Given the description of an element on the screen output the (x, y) to click on. 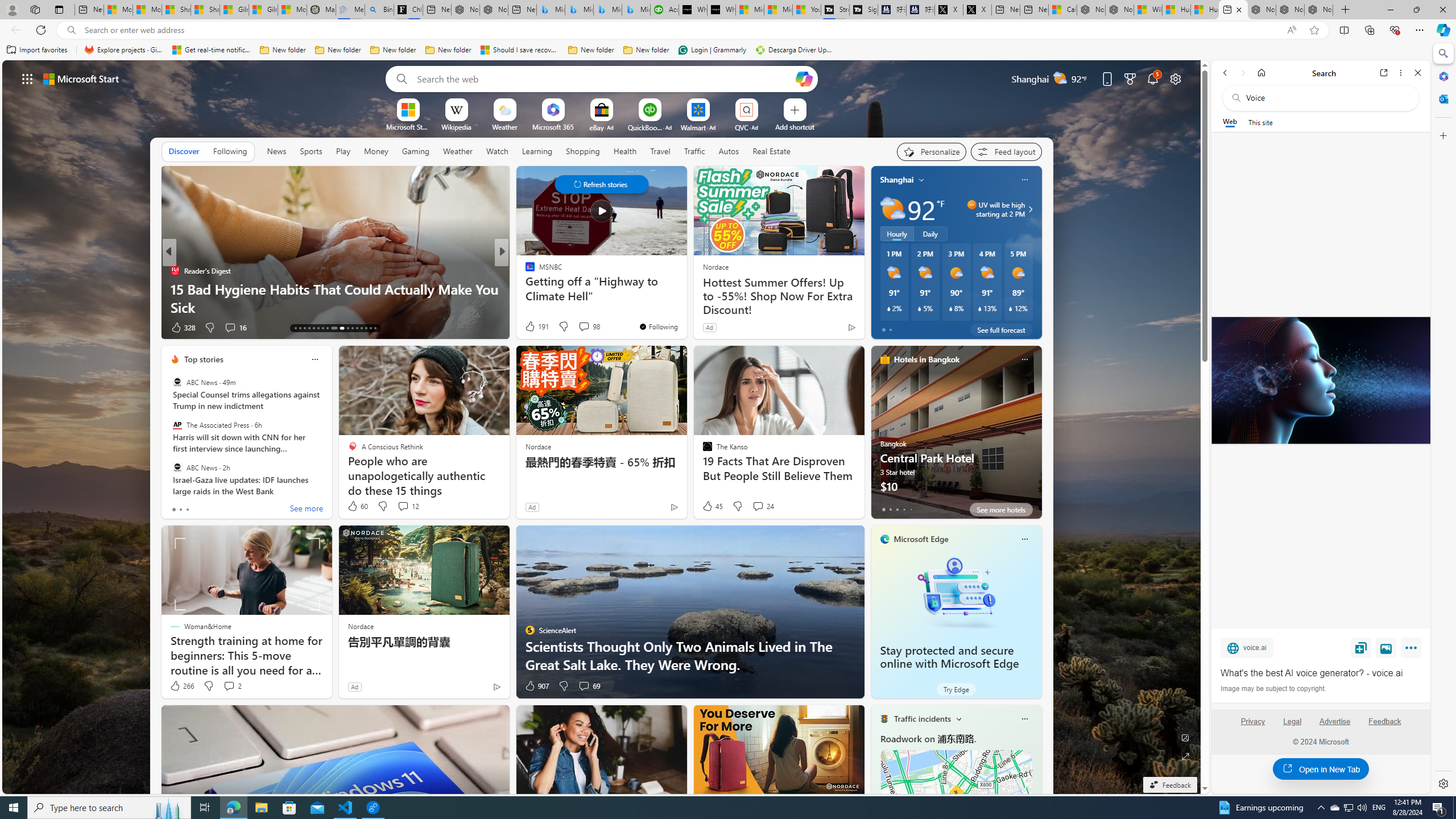
Start the conversation (572, 327)
45 Like (712, 505)
Search the web (1326, 97)
AutomationID: tab-27 (366, 328)
Notifications (1152, 78)
Side bar (1443, 418)
Dislike (563, 685)
Nordace Siena Pro 15 Backpack (1289, 9)
voice.ai (1247, 647)
Legal (1292, 725)
Reader's Digest (174, 270)
